Given the description of an element on the screen output the (x, y) to click on. 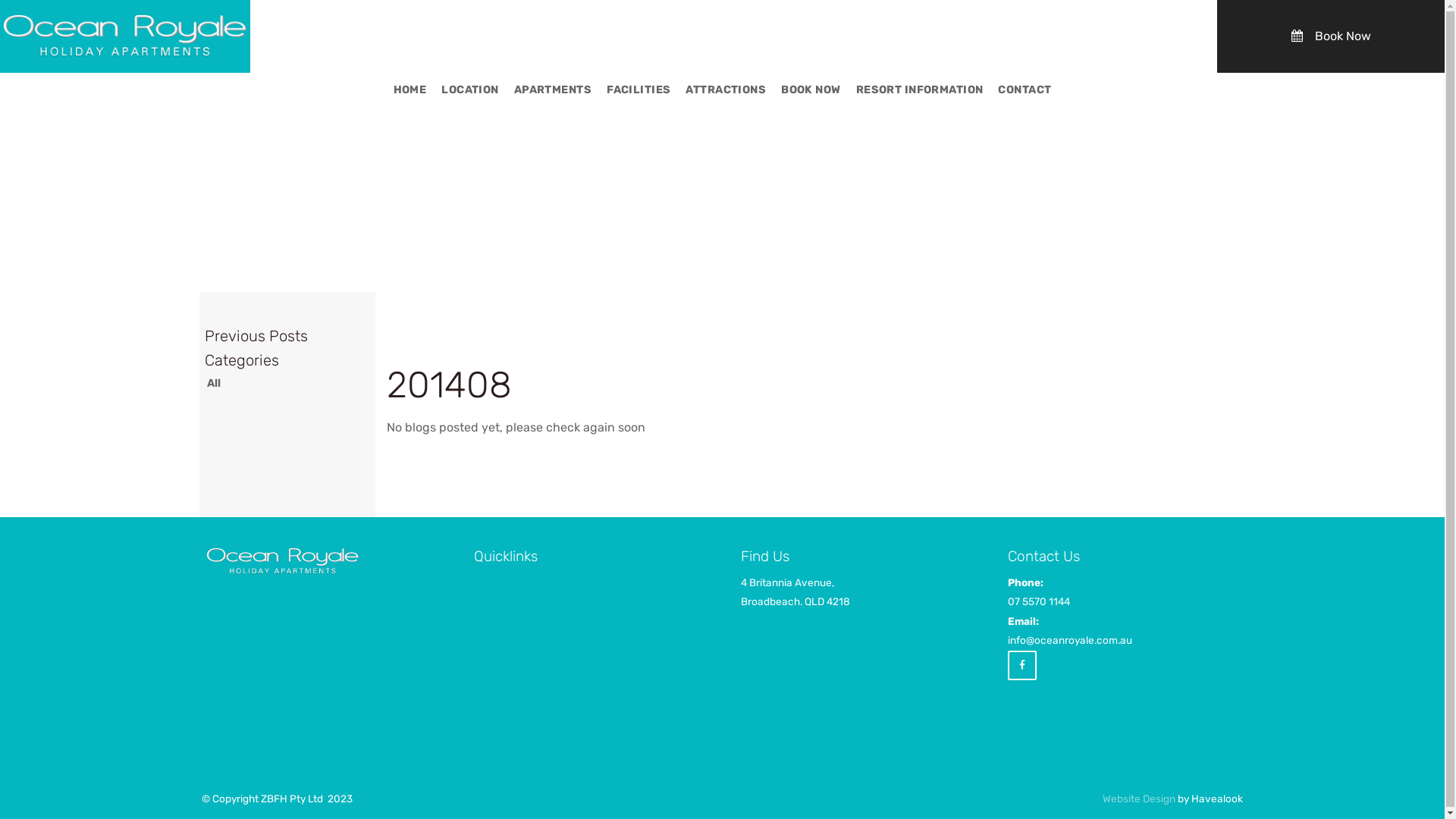
Book Now Element type: text (1330, 36)
LOCATION Element type: text (469, 90)
RESORT INFORMATION Element type: text (919, 90)
FACILITIES Element type: text (638, 90)
BOOK NOW Element type: text (810, 90)
ATTRACTIONS Element type: text (725, 90)
Website Design Element type: text (1138, 798)
APARTMENTS Element type: text (552, 90)
CONTACT Element type: text (1024, 90)
Email:
info@oceanroyale.com.au Element type: text (1122, 628)
All Element type: text (287, 383)
HOME Element type: text (409, 90)
4 Britannia Avenue,
Broadbeach. QLD 4218 Element type: text (795, 592)
